Given the description of an element on the screen output the (x, y) to click on. 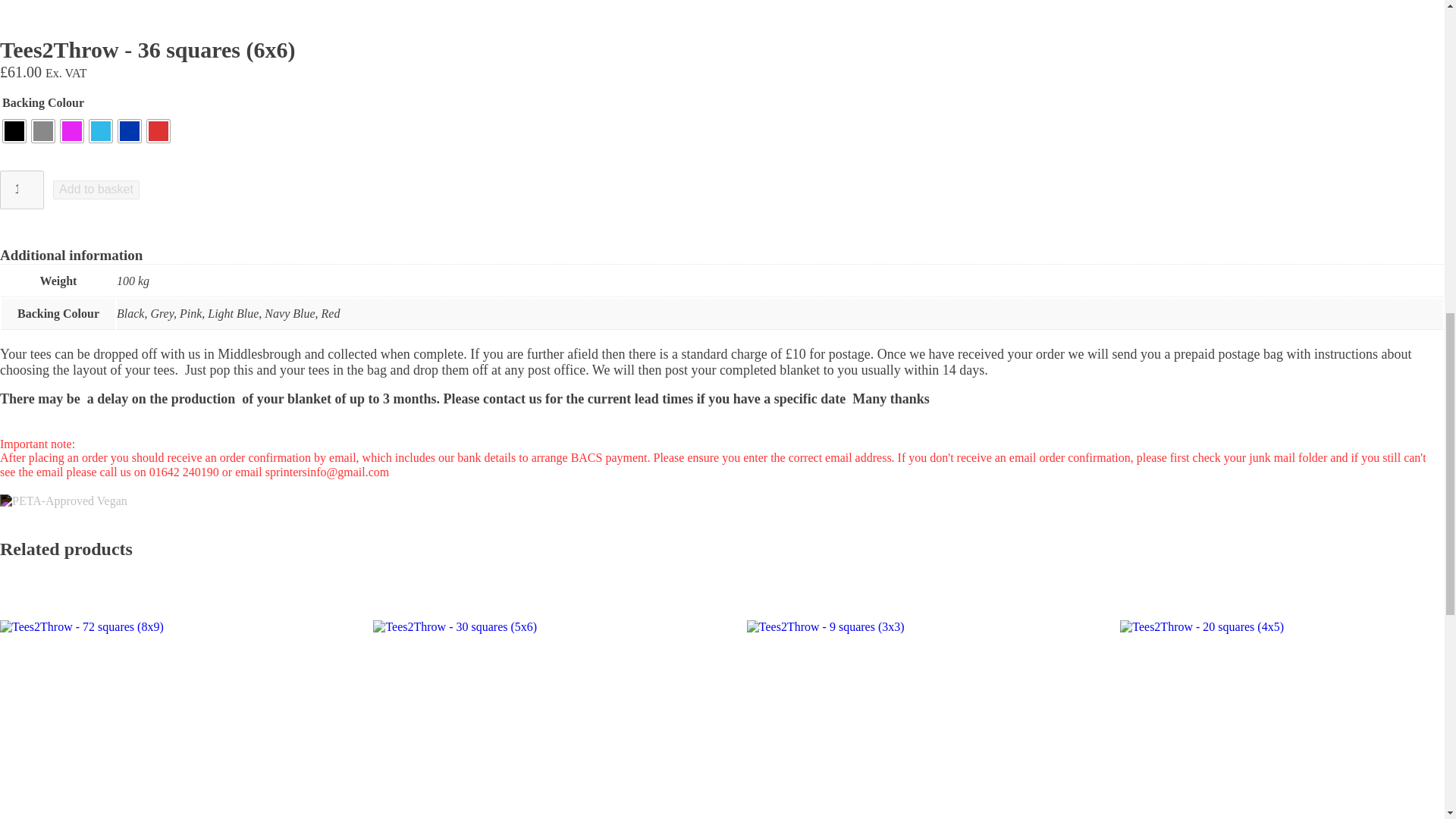
Grey (43, 130)
Red (158, 130)
Navy Blue (129, 130)
Black (14, 130)
Pink (71, 130)
Add to basket (95, 189)
1 (21, 189)
Light Blue (100, 130)
